Given the description of an element on the screen output the (x, y) to click on. 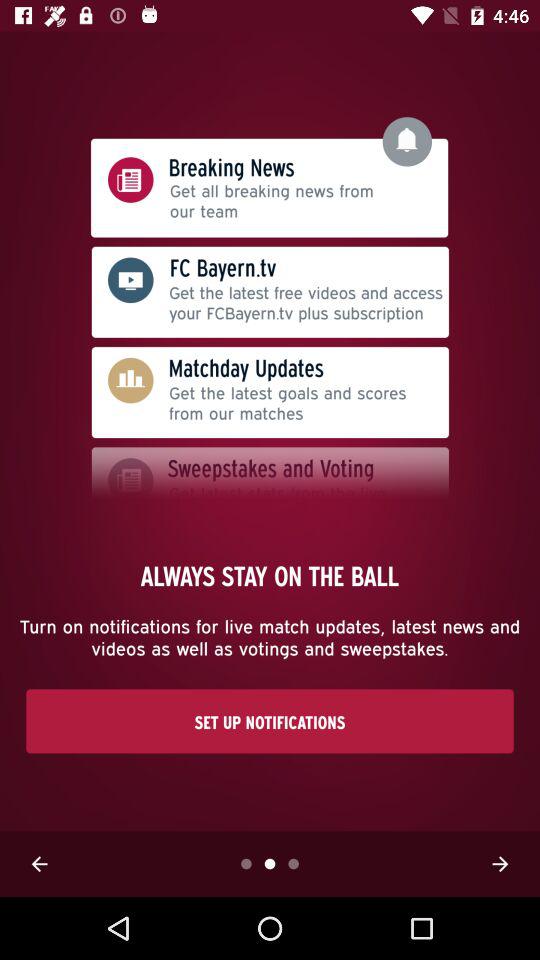
go forward (500, 864)
